Given the description of an element on the screen output the (x, y) to click on. 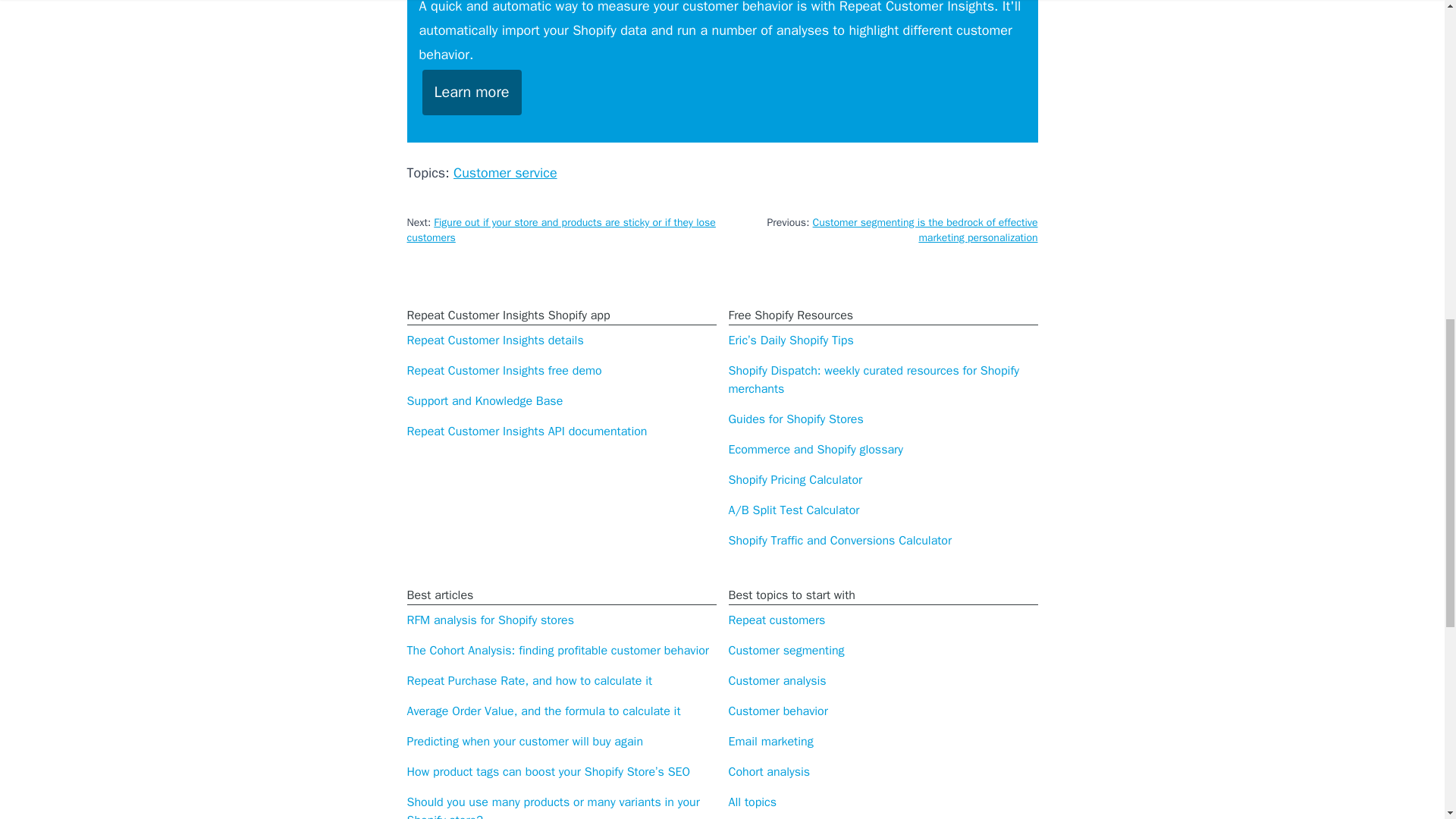
Repeat Customer Insights free demo (503, 370)
Repeat Customer Insights details (494, 340)
Learn more (471, 92)
Customer service (504, 172)
